Given the description of an element on the screen output the (x, y) to click on. 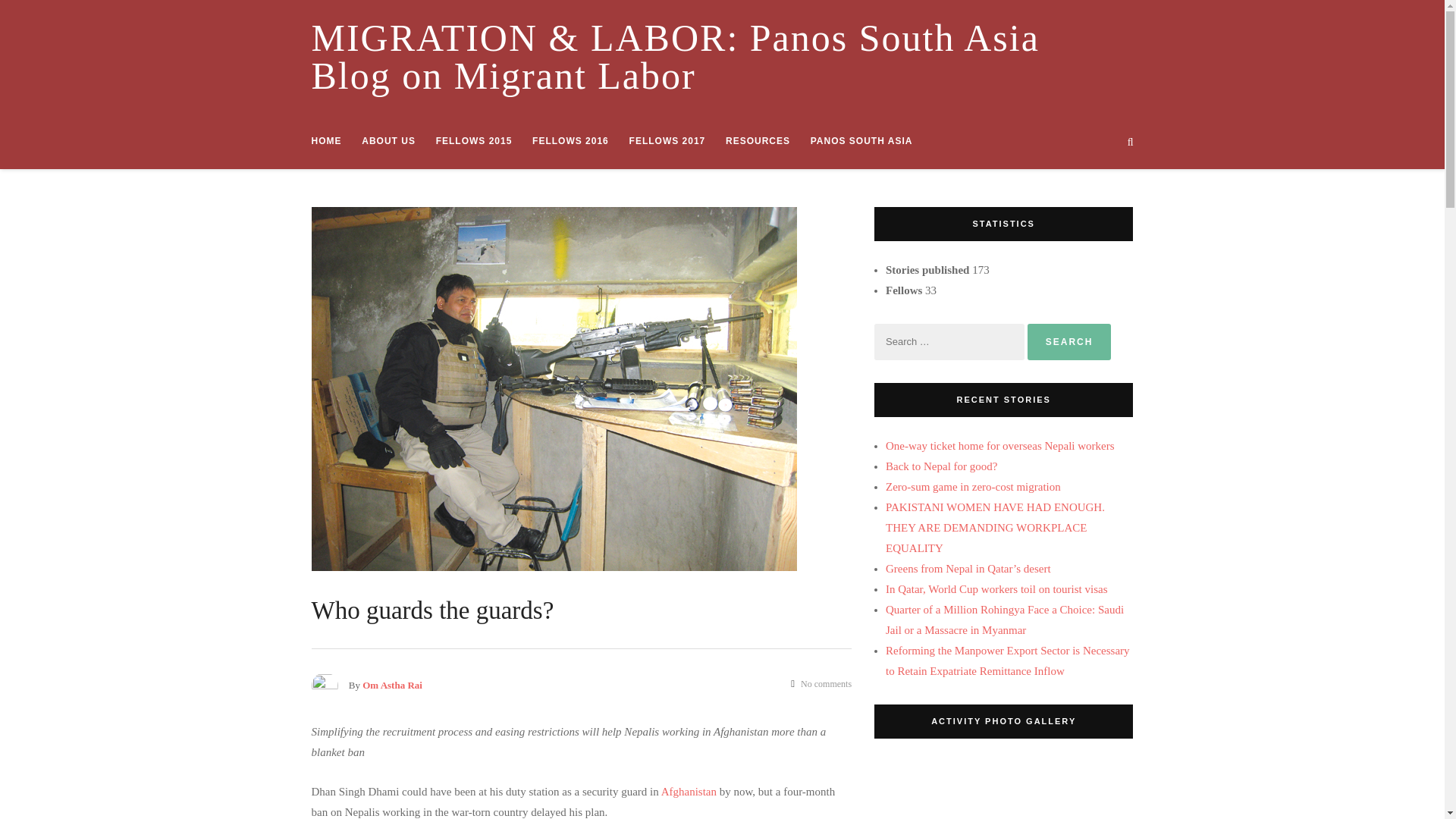
Search (1069, 341)
Om Astha Rai (392, 685)
Search (1269, 186)
Afghanistan (688, 791)
FELLOWS 2016 (570, 140)
No comments (820, 683)
PANOS SOUTH ASIA (861, 140)
Posts by Om Astha Rai (392, 685)
FELLOWS 2015 (473, 140)
In Qatar, World Cup workers toil on tourist visas (995, 589)
ABOUT US (387, 140)
Zero-sum game in zero-cost migration (973, 486)
